Given the description of an element on the screen output the (x, y) to click on. 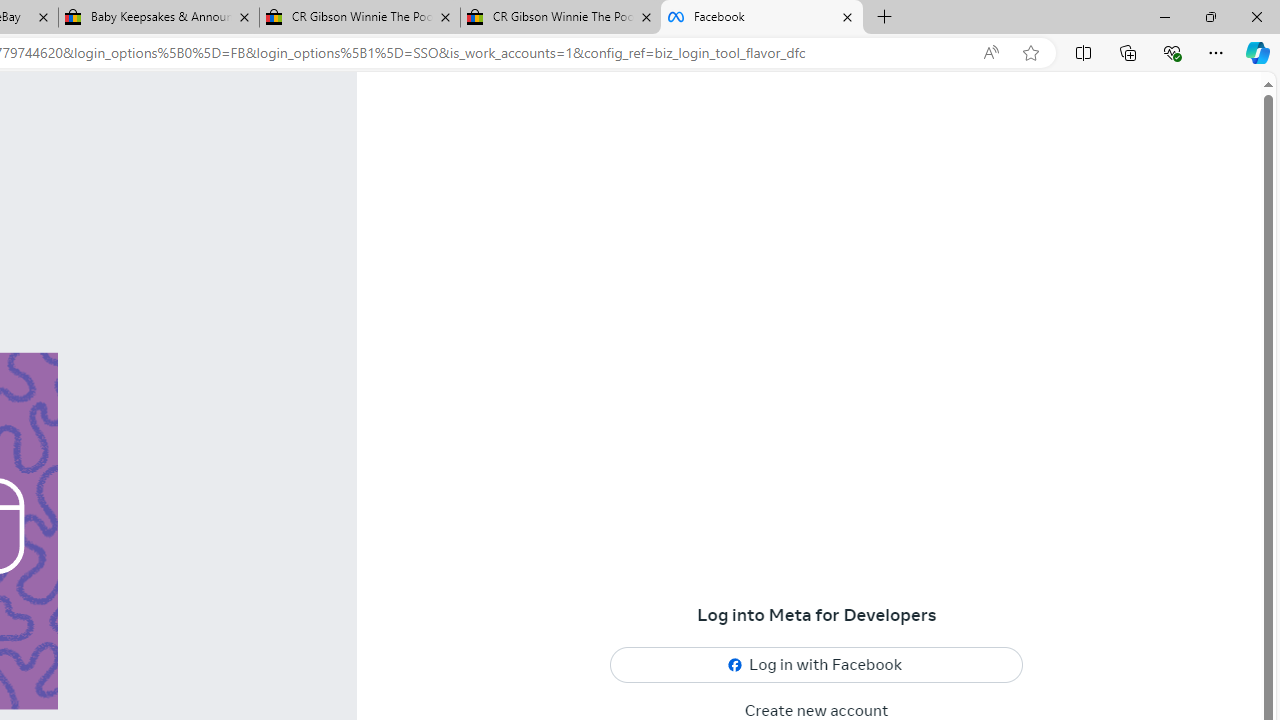
Log in with Facebook (817, 665)
